Given the description of an element on the screen output the (x, y) to click on. 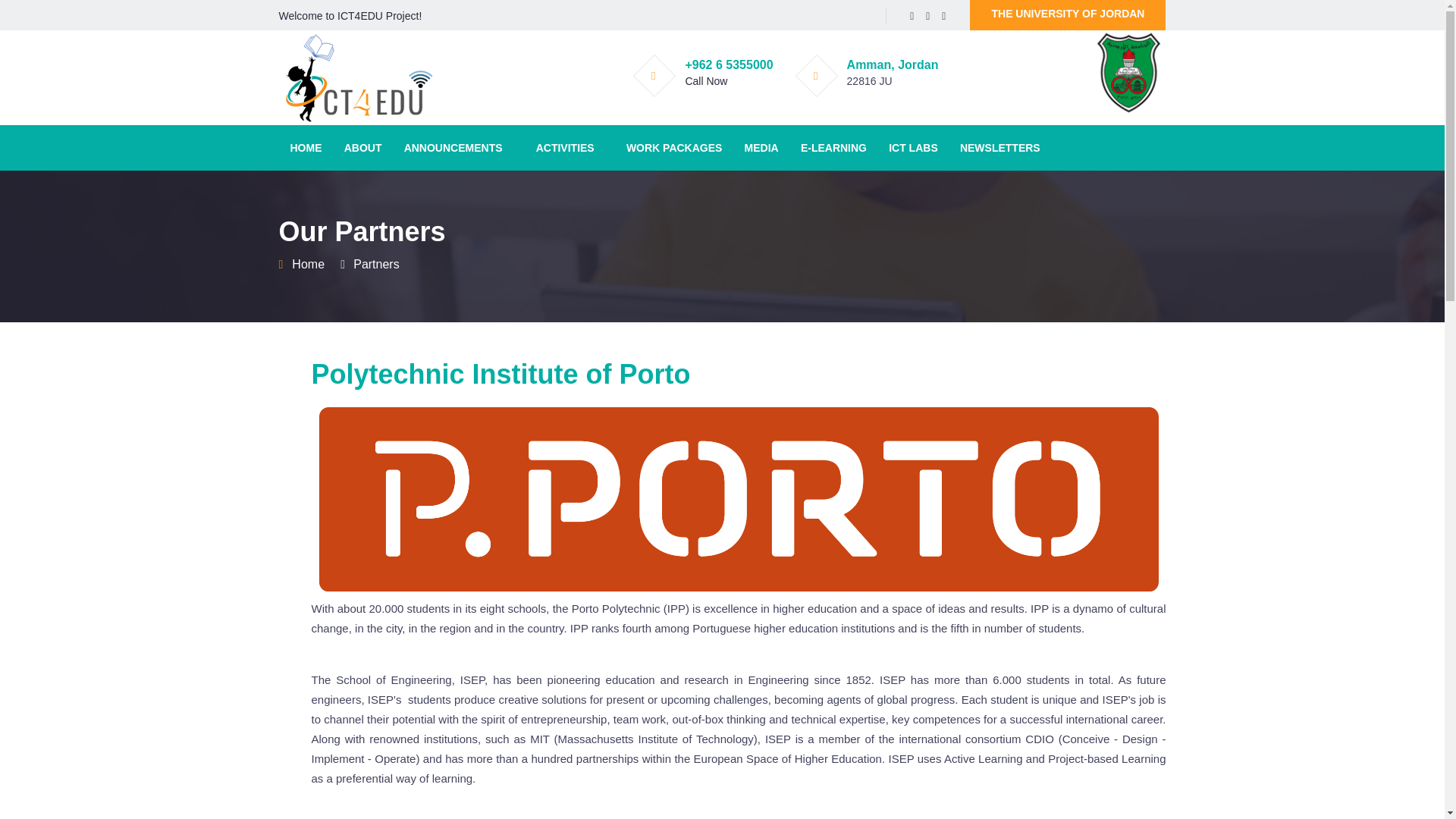
THE UNIVERSITY OF JORDAN (1067, 15)
ACTIVITIES (564, 147)
E-LEARNING (833, 147)
Call Now (705, 80)
Home (308, 264)
NEWSLETTERS (1000, 147)
ICT LABS (913, 147)
WORK PACKAGES (673, 147)
HOME (306, 147)
MEDIA (761, 147)
ABOUT (363, 147)
Partners (375, 264)
ANNOUNCEMENTS (453, 147)
